Given the description of an element on the screen output the (x, y) to click on. 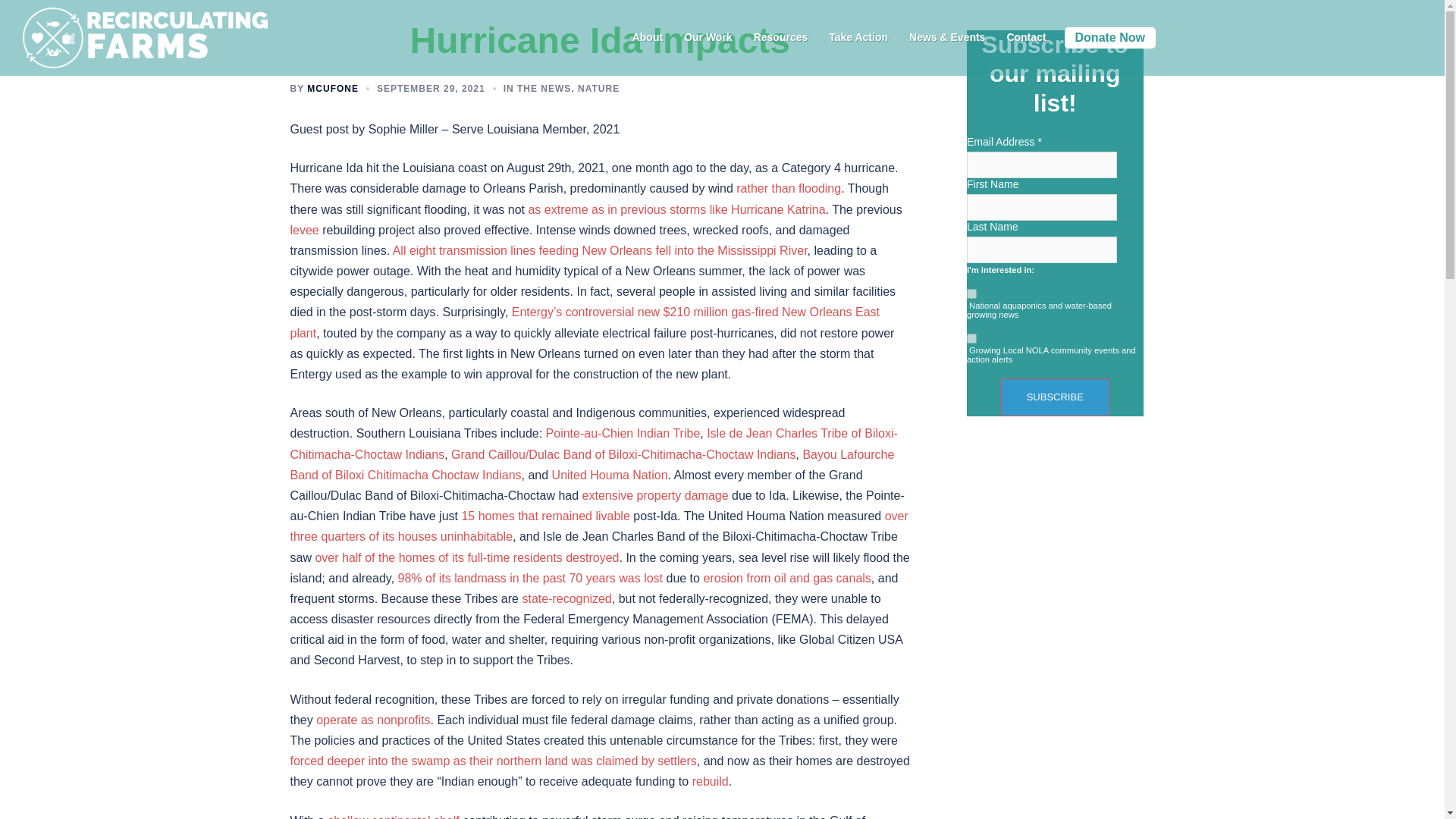
Bayou Lafourche Band of Biloxi Chitimacha Choctaw Indians (591, 464)
SEPTEMBER 29, 2021 (430, 88)
IN THE NEWS (537, 88)
Recirculating Farms (139, 36)
rather than flooding (788, 187)
Take Action (858, 37)
MCUFONE (332, 88)
1 (971, 293)
Donate Now (1109, 37)
NATURE (599, 88)
Pointe-au-Chien Indian Tribe (623, 432)
2 (971, 338)
Resources (781, 37)
Our Work (708, 37)
